Given the description of an element on the screen output the (x, y) to click on. 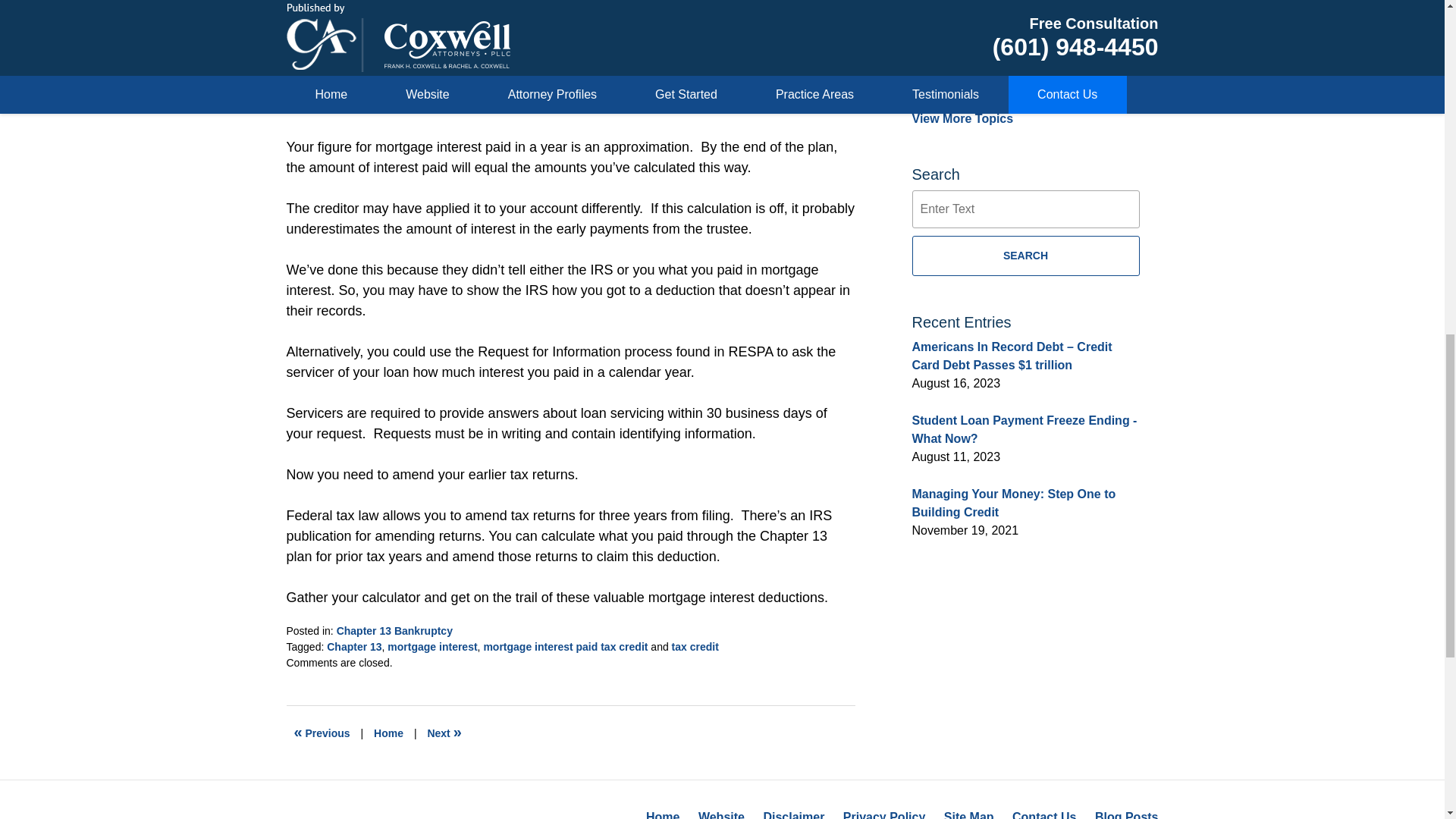
View all posts tagged with tax credit (695, 646)
View all posts tagged with mortgage interest (432, 646)
Chapter 13 (353, 646)
Avoid having too much or too little income tax withheld. (443, 732)
View all posts tagged with Chapter 13 (353, 646)
mortgage interest paid tax credit (565, 646)
tax credit (695, 646)
View all posts in Chapter 13 Bankruptcy (394, 630)
Chapter 13 Bankruptcy (394, 630)
View all posts tagged with mortgage interest paid tax credit (565, 646)
mortgage interest (432, 646)
Home (388, 732)
